Given the description of an element on the screen output the (x, y) to click on. 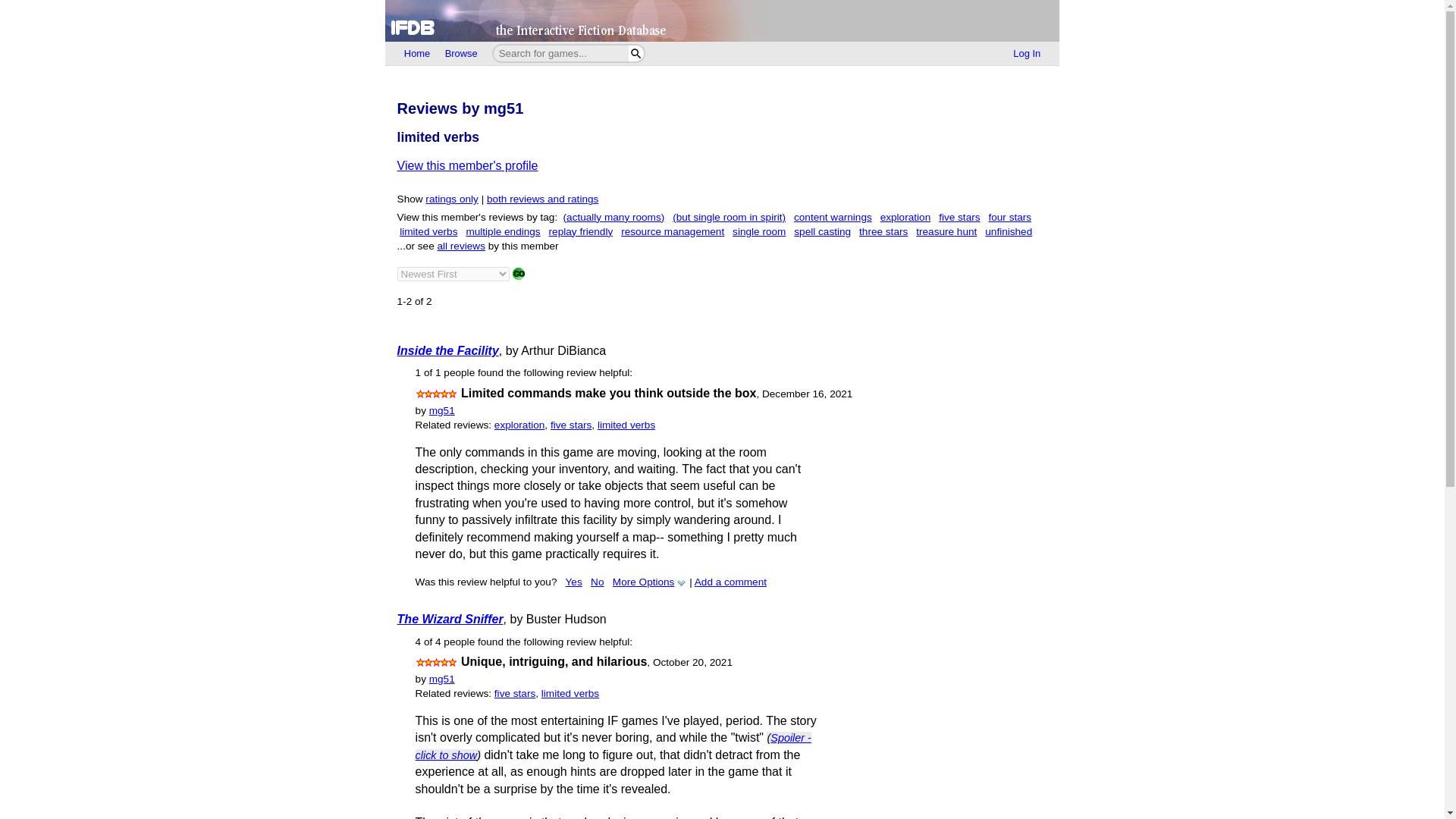
five stars (959, 216)
multiple endings (502, 231)
five stars (570, 424)
Log In (1027, 53)
limited verbs (625, 424)
ratings only (452, 198)
content warnings (832, 216)
resource management (672, 231)
View this member's profile (467, 164)
Browse (461, 53)
